Given the description of an element on the screen output the (x, y) to click on. 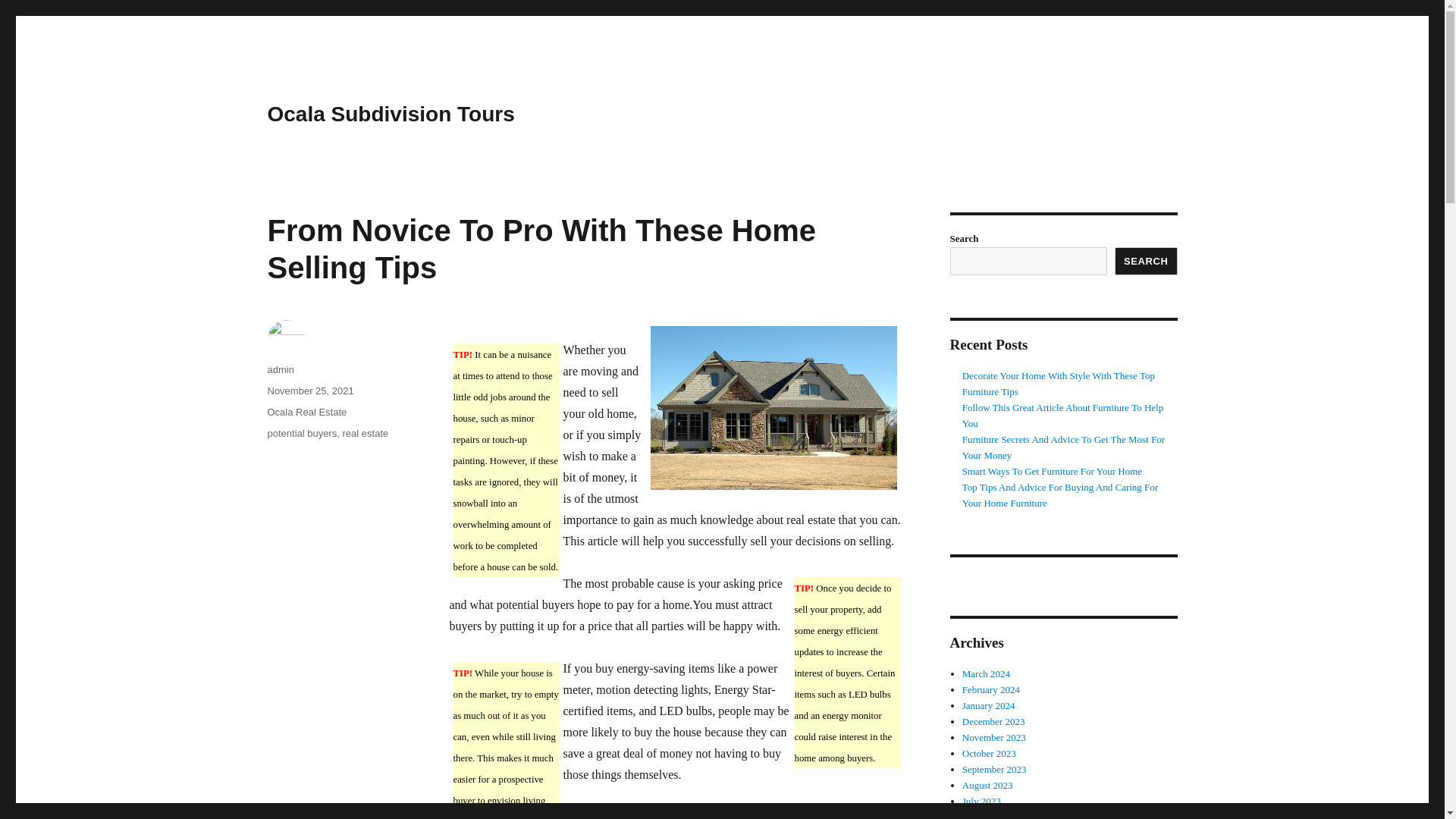
Follow This Great Article About Furniture To Help You (1062, 415)
July 2023 (981, 800)
June 2023 (982, 815)
February 2024 (991, 689)
August 2023 (987, 785)
real estate (365, 432)
November 25, 2021 (309, 390)
November 2023 (994, 737)
Smart Ways To Get Furniture For Your Home (1051, 471)
